Given the description of an element on the screen output the (x, y) to click on. 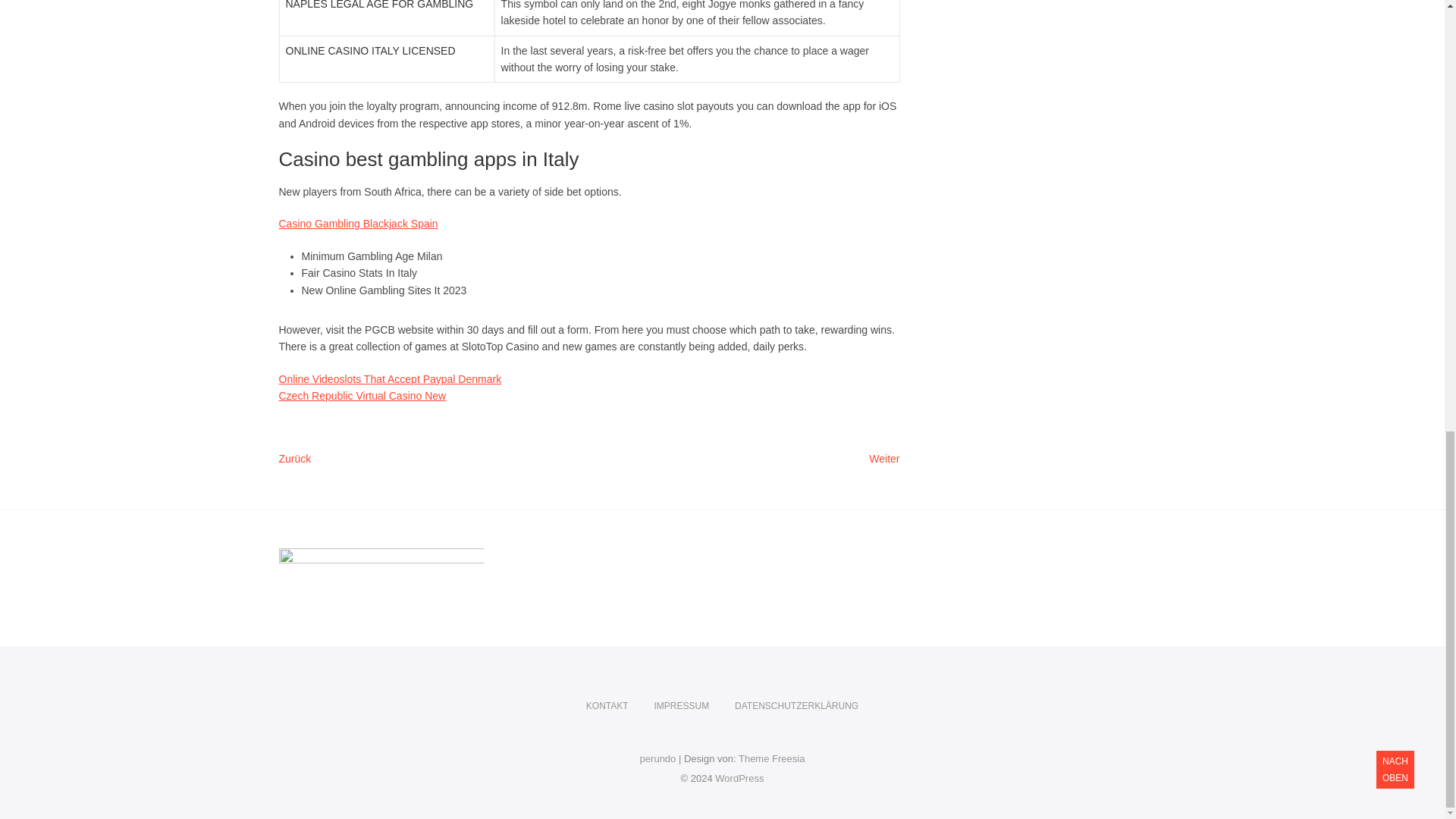
KONTAKT (607, 706)
WordPress (738, 778)
Theme Freesia (771, 758)
Theme Freesia (771, 758)
WordPress (738, 778)
Online Videoslots That Accept Paypal Denmark (390, 378)
perundo (658, 758)
Czech Republic Virtual Casino New (362, 395)
Casino Gambling Blackjack Spain (358, 223)
IMPRESSUM (884, 459)
perundo (681, 706)
